Given the description of an element on the screen output the (x, y) to click on. 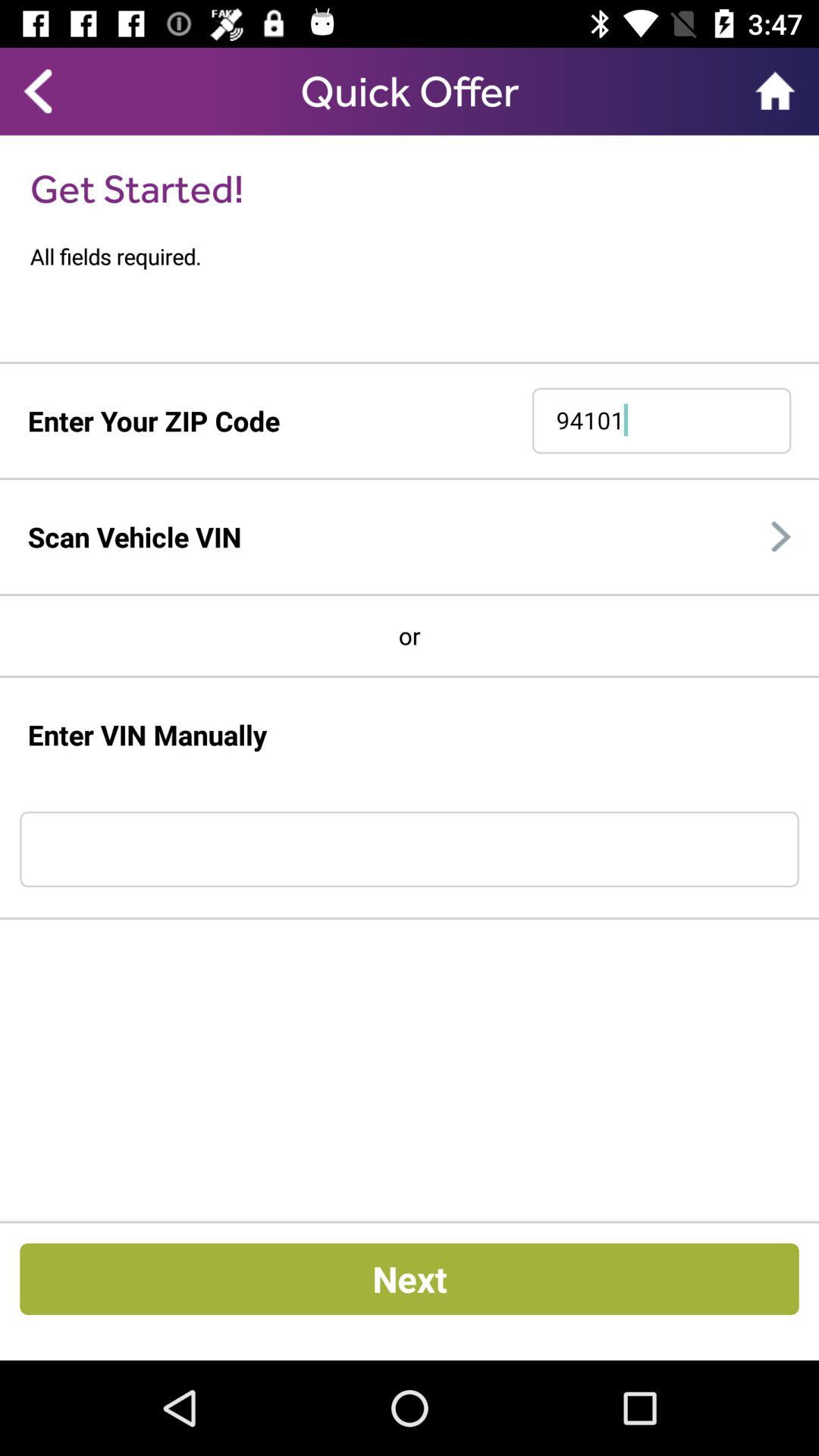
click the icon above the scan vehicle vin (409, 478)
